Given the description of an element on the screen output the (x, y) to click on. 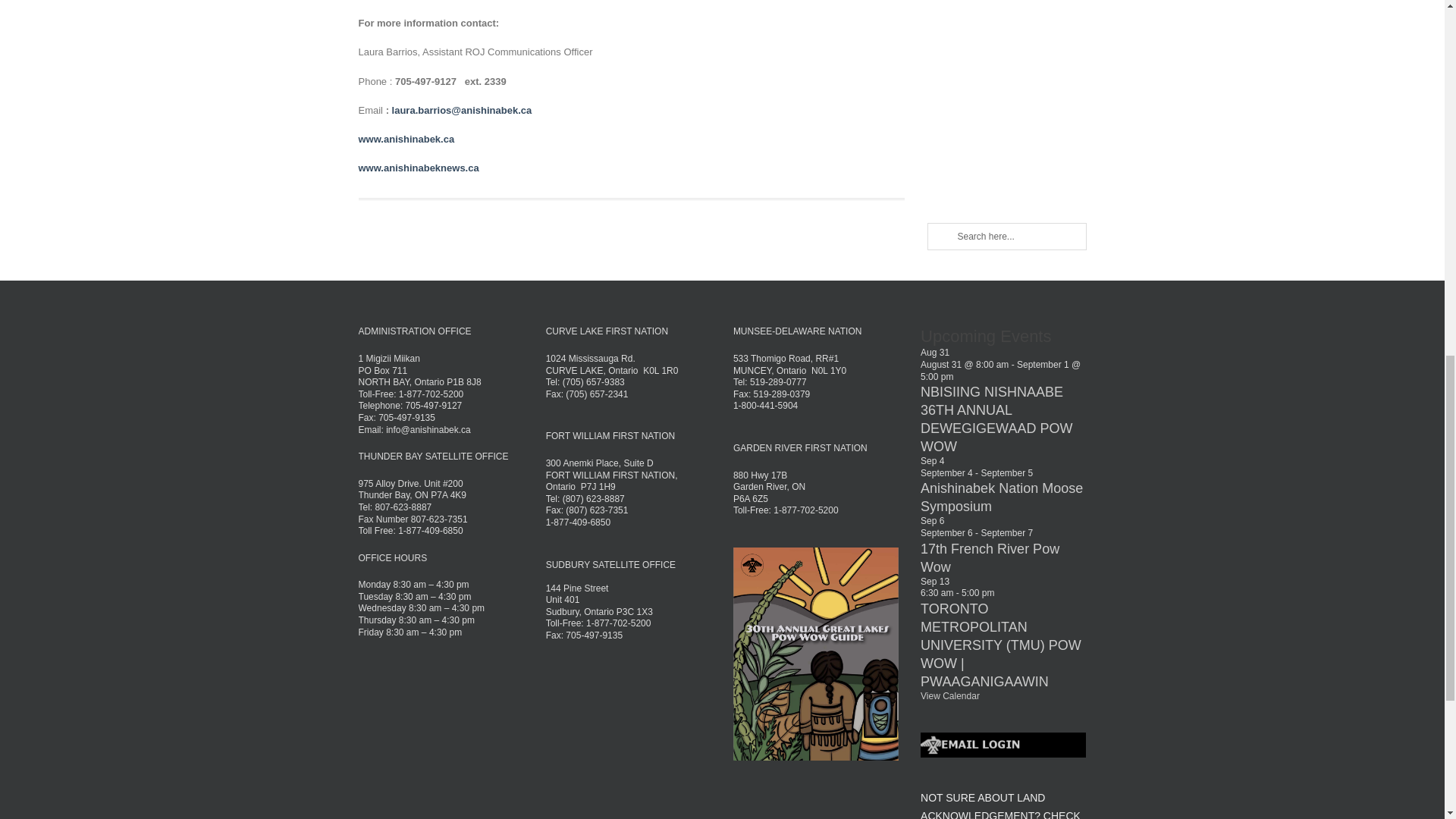
17th French River Pow Wow (989, 557)
Search here... (1006, 236)
NBISIING NISHNAABE 36TH ANNUAL DEWEGIGEWAAD POW WOW (995, 419)
View more events. (949, 696)
Anishinabek Nation Moose Symposium (1001, 497)
